Given the description of an element on the screen output the (x, y) to click on. 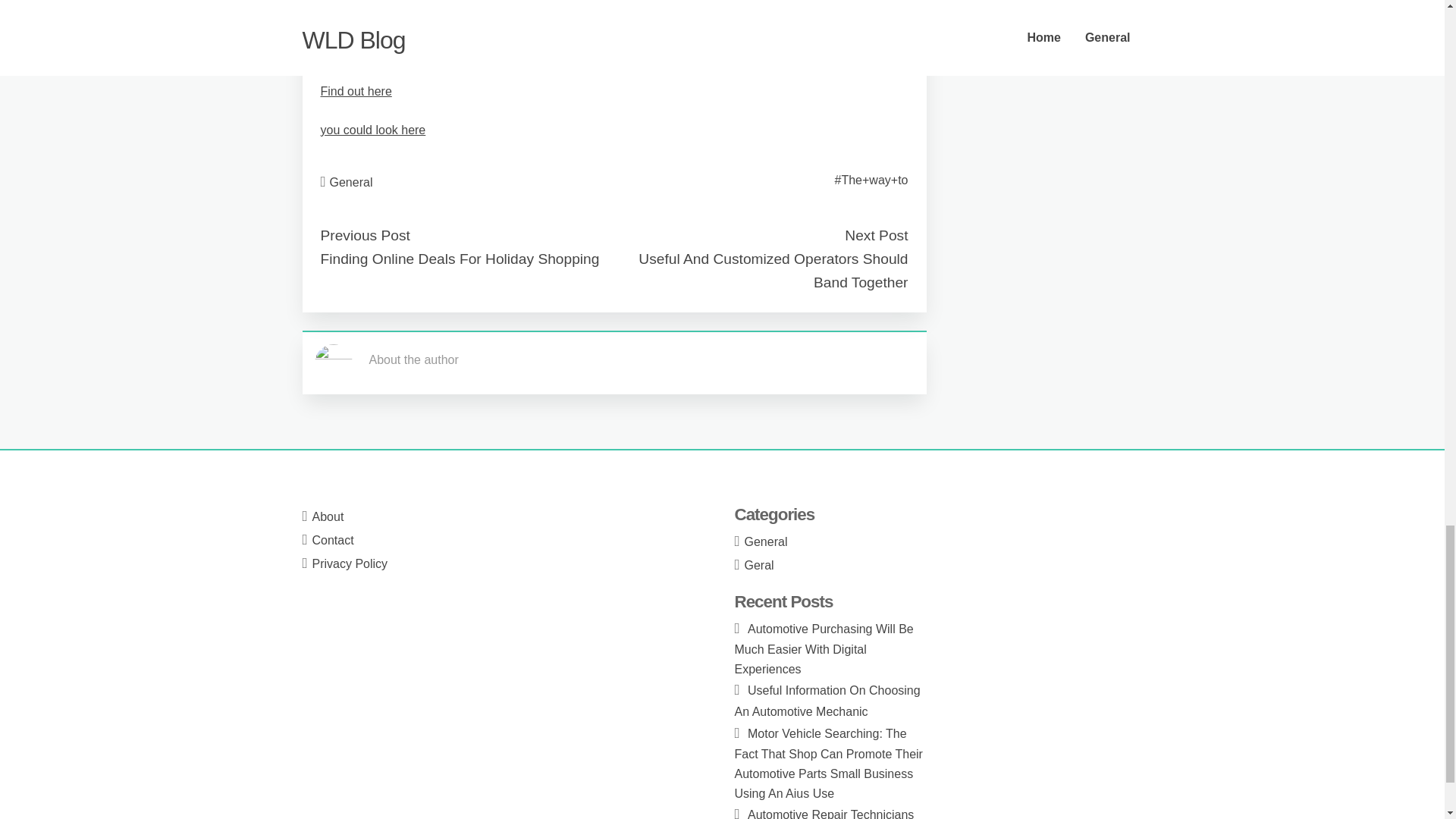
Contact (333, 540)
Privacy Policy (350, 563)
Useful Information On Choosing An Automotive Mechanic (826, 700)
Next Post (875, 235)
General (765, 541)
Geral (759, 564)
Automotive Repair Technicians (831, 813)
Finding Online Deals For Holiday Shopping (459, 258)
